Given the description of an element on the screen output the (x, y) to click on. 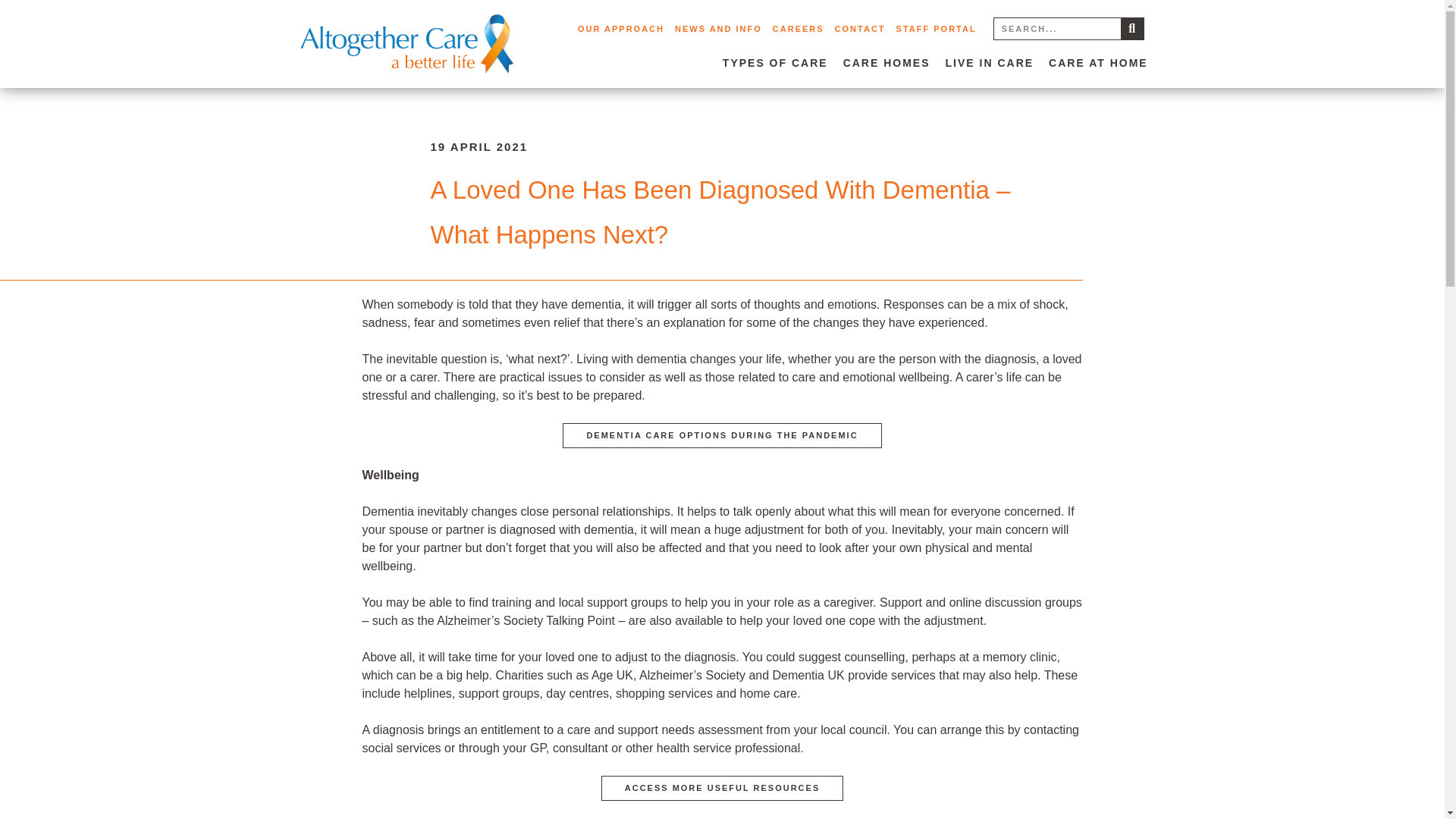
STAFF PORTAL (936, 28)
CONTACT (860, 28)
NEWS AND INFO (718, 28)
OUR APPROACH (620, 28)
TYPES OF CARE (774, 62)
CARE HOMES (886, 62)
CAREERS (798, 28)
